Given the description of an element on the screen output the (x, y) to click on. 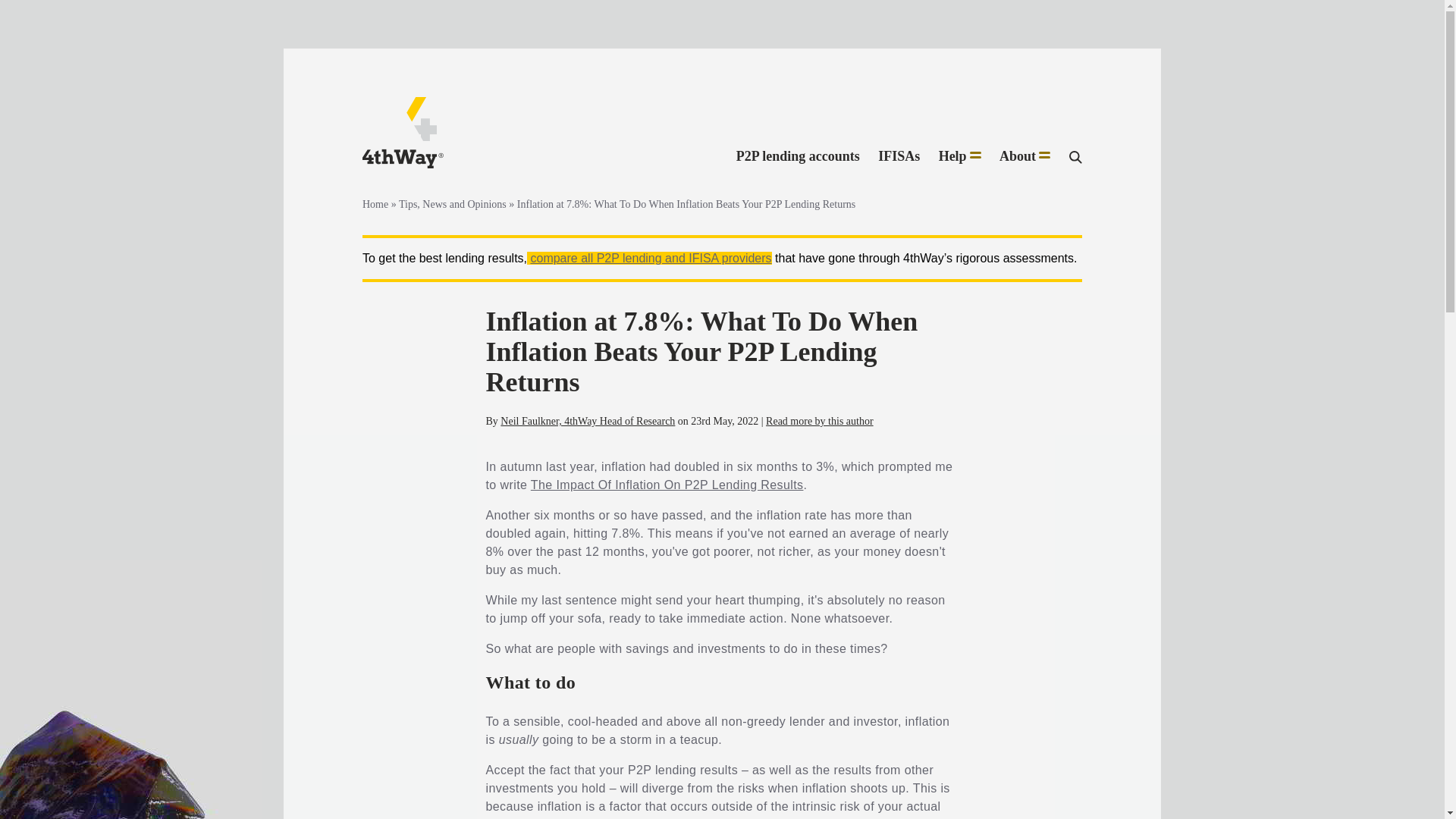
Help (960, 156)
Home (375, 204)
Neil Faulkner, 4thWay Head of Research (587, 420)
P2P lending accounts (798, 156)
IFISAs (898, 156)
compare all P2P lending and IFISA providers (650, 257)
About (1023, 156)
Tips, News and Opinions (452, 204)
Read more by this author (819, 420)
The Impact Of Inflation On P2P Lending Results (667, 484)
